Given the description of an element on the screen output the (x, y) to click on. 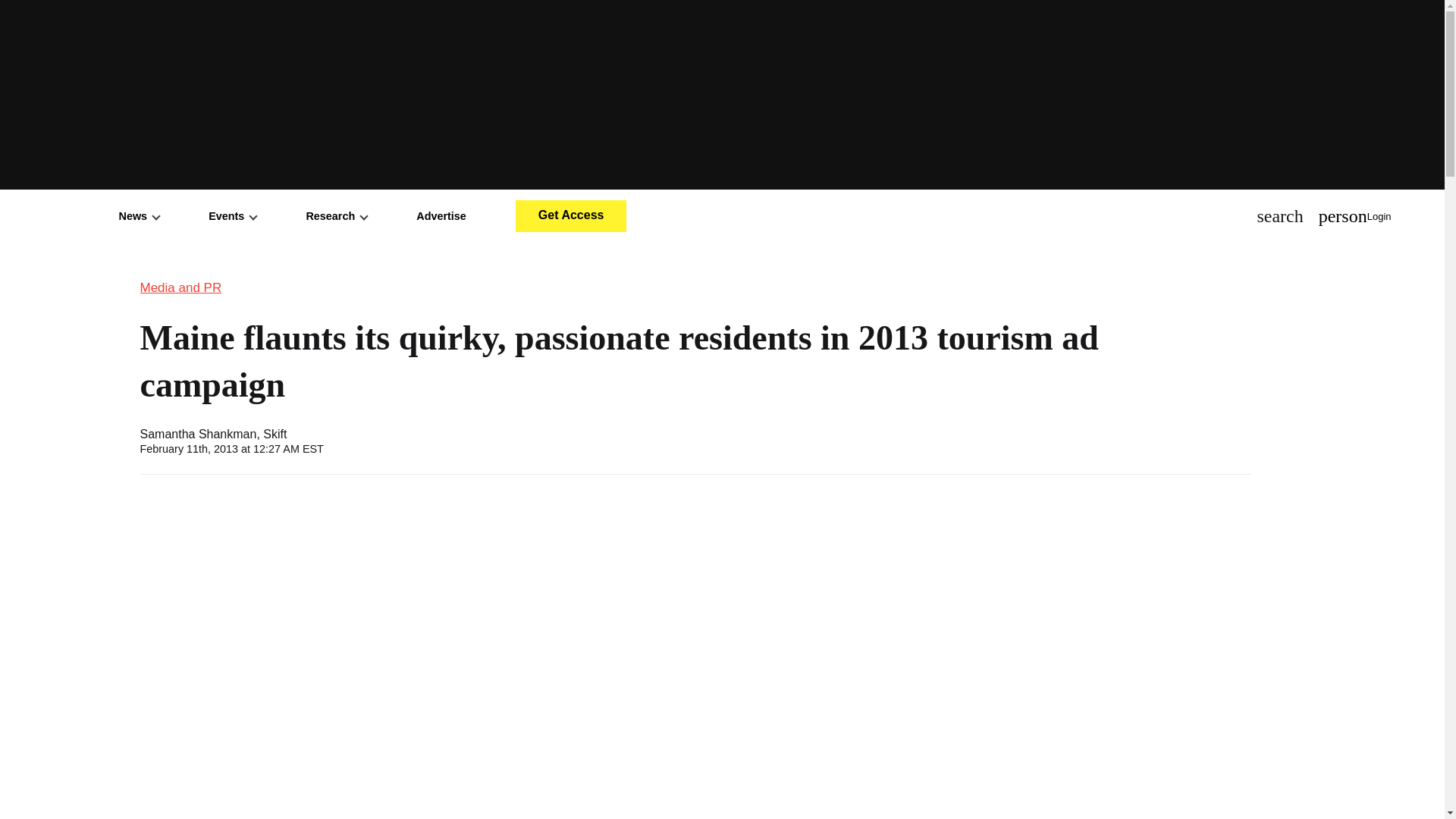
Events (232, 215)
News (139, 215)
Research (335, 215)
